Given the description of an element on the screen output the (x, y) to click on. 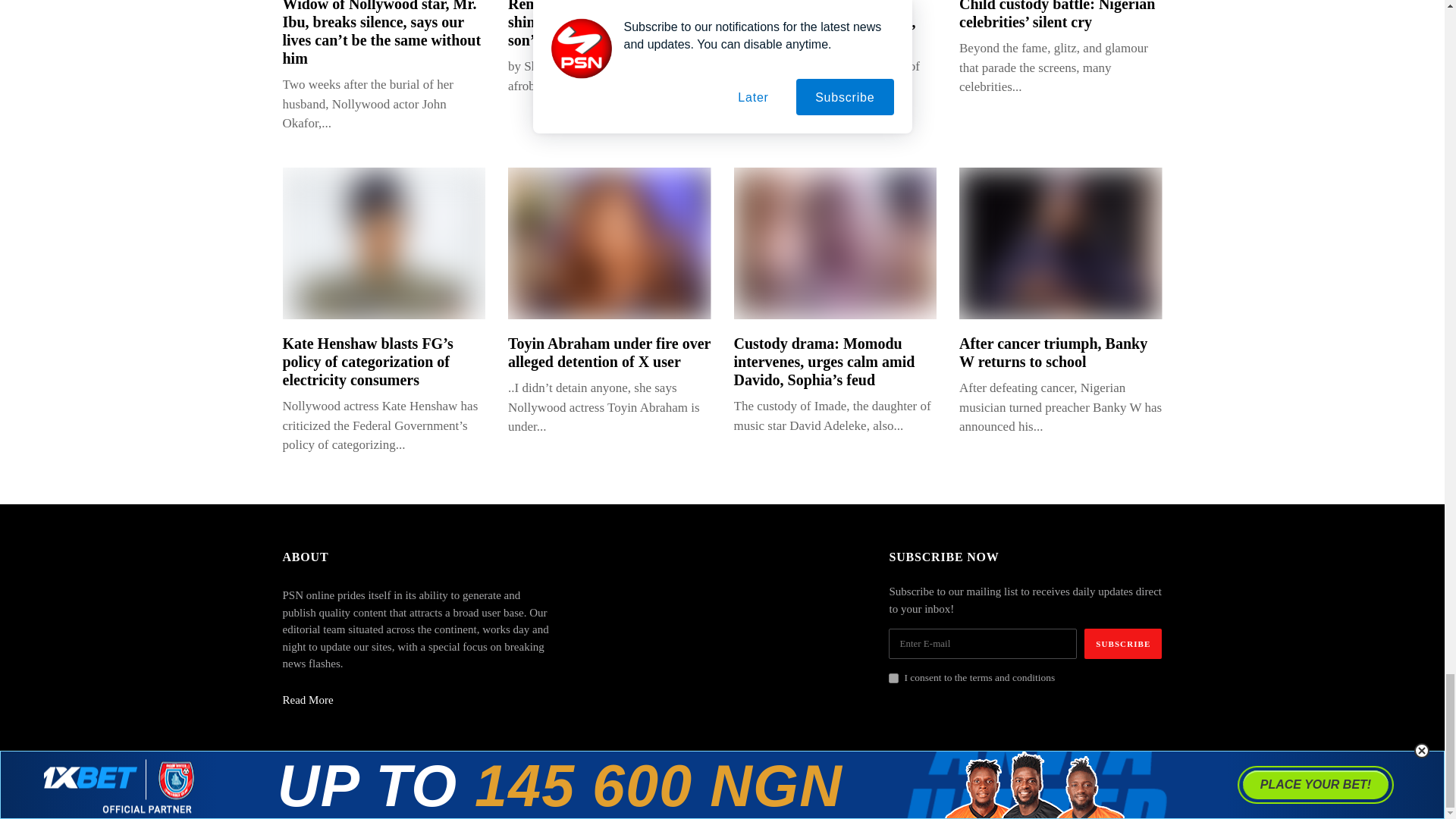
1 (893, 678)
Subscribe (1122, 643)
